Given the description of an element on the screen output the (x, y) to click on. 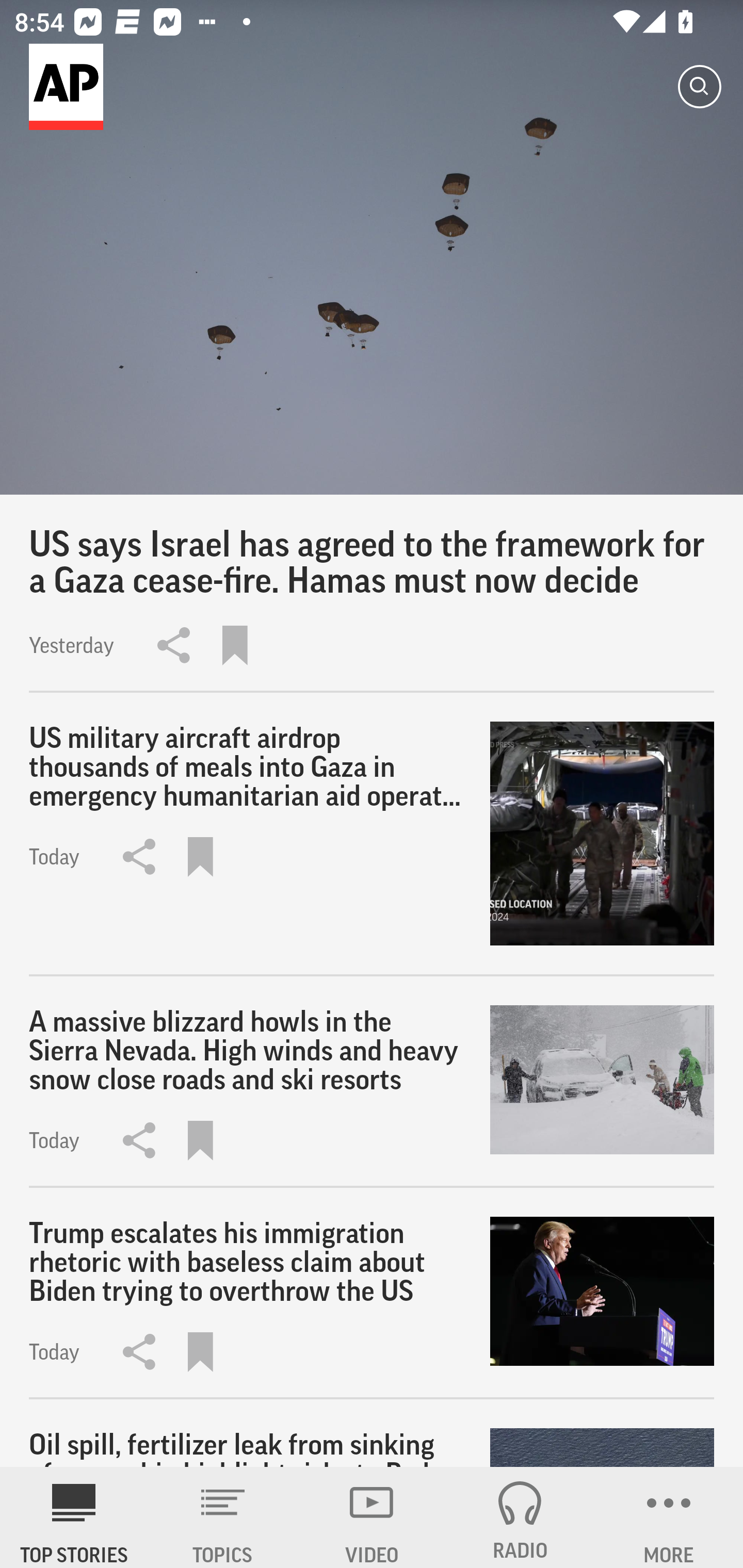
AP News TOP STORIES (74, 1517)
TOPICS (222, 1517)
VIDEO (371, 1517)
RADIO (519, 1517)
MORE (668, 1517)
